Given the description of an element on the screen output the (x, y) to click on. 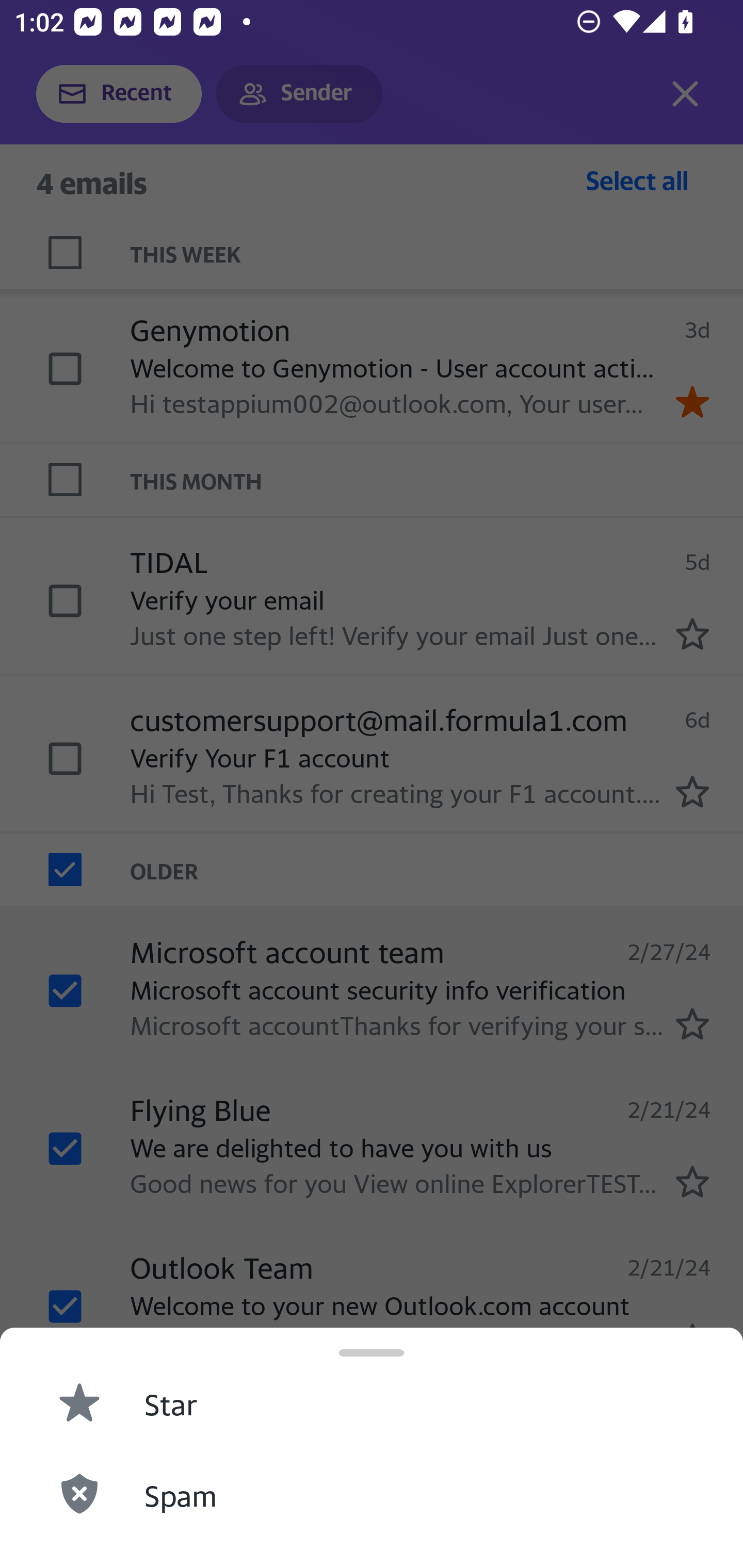
Star (371, 1401)
Spam (371, 1493)
